Given the description of an element on the screen output the (x, y) to click on. 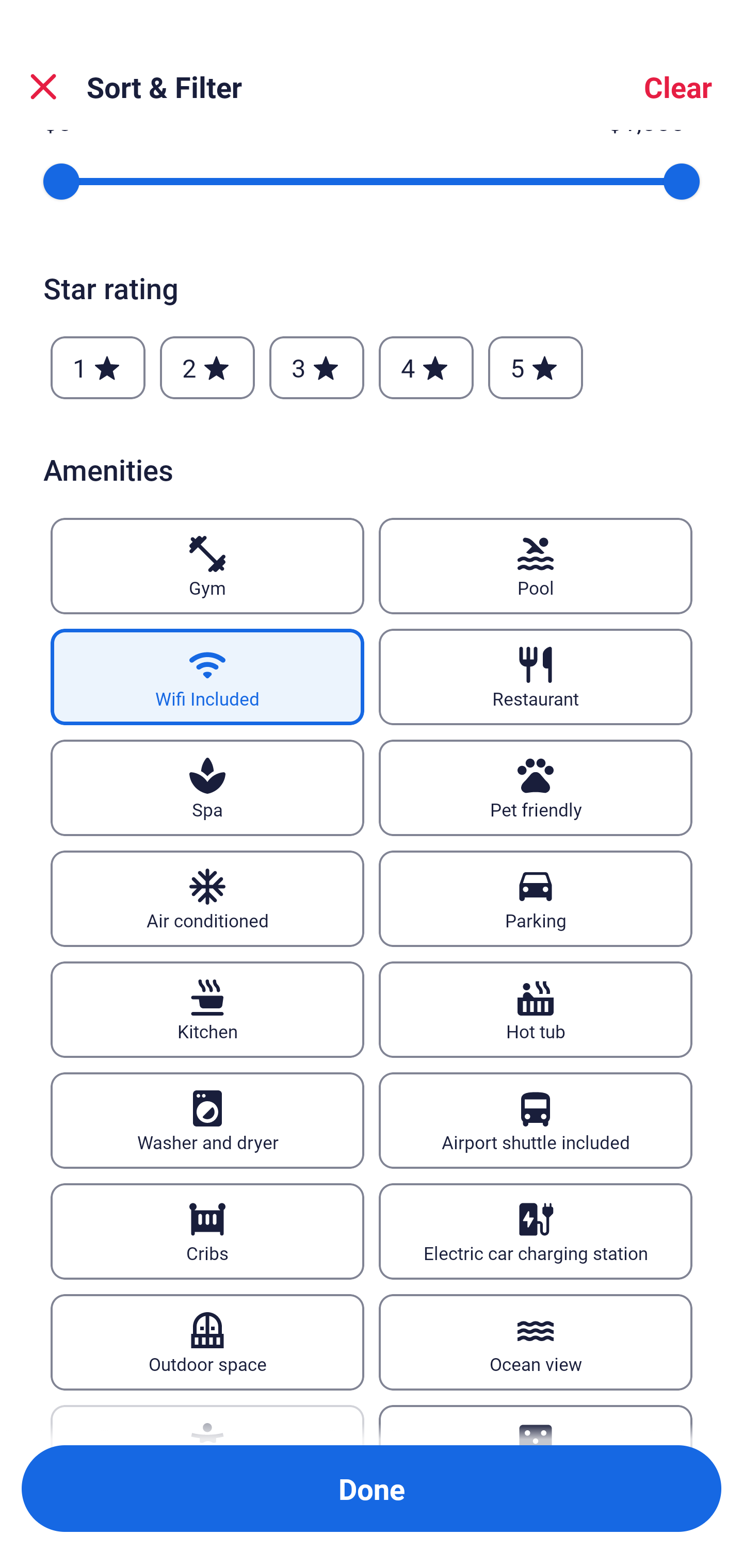
Close Sort and Filter (43, 86)
Clear (677, 86)
1 (97, 367)
2 (206, 367)
3 (316, 367)
4 (426, 367)
5 (535, 367)
Gym (207, 565)
Pool (535, 565)
Wifi Included (207, 676)
Restaurant (535, 676)
Spa (207, 787)
Pet friendly (535, 787)
Air conditioned (207, 898)
Parking (535, 898)
Kitchen (207, 1009)
Hot tub (535, 1009)
Washer and dryer (207, 1120)
Airport shuttle included (535, 1120)
Cribs (207, 1231)
Electric car charging station (535, 1231)
Outdoor space (207, 1341)
Ocean view (535, 1341)
Apply and close Sort and Filter Done (371, 1488)
